Given the description of an element on the screen output the (x, y) to click on. 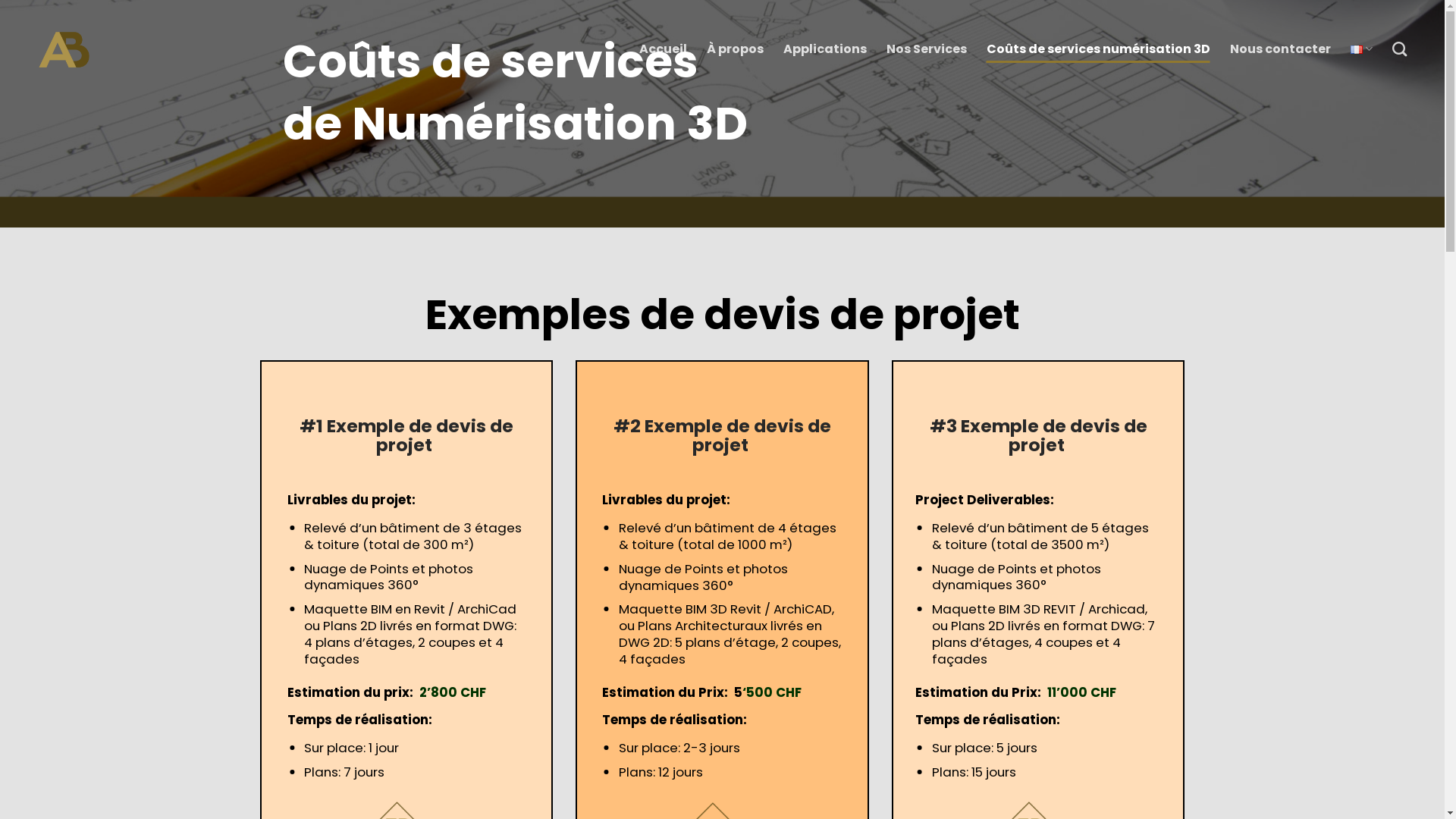
Applications Element type: text (824, 48)
Accueil Element type: text (663, 48)
Nos Services Element type: text (926, 48)
Nous contacter Element type: text (1280, 48)
3D Scanning Element type: hover (63, 48)
Skip to content Element type: text (0, 0)
